Given the description of an element on the screen output the (x, y) to click on. 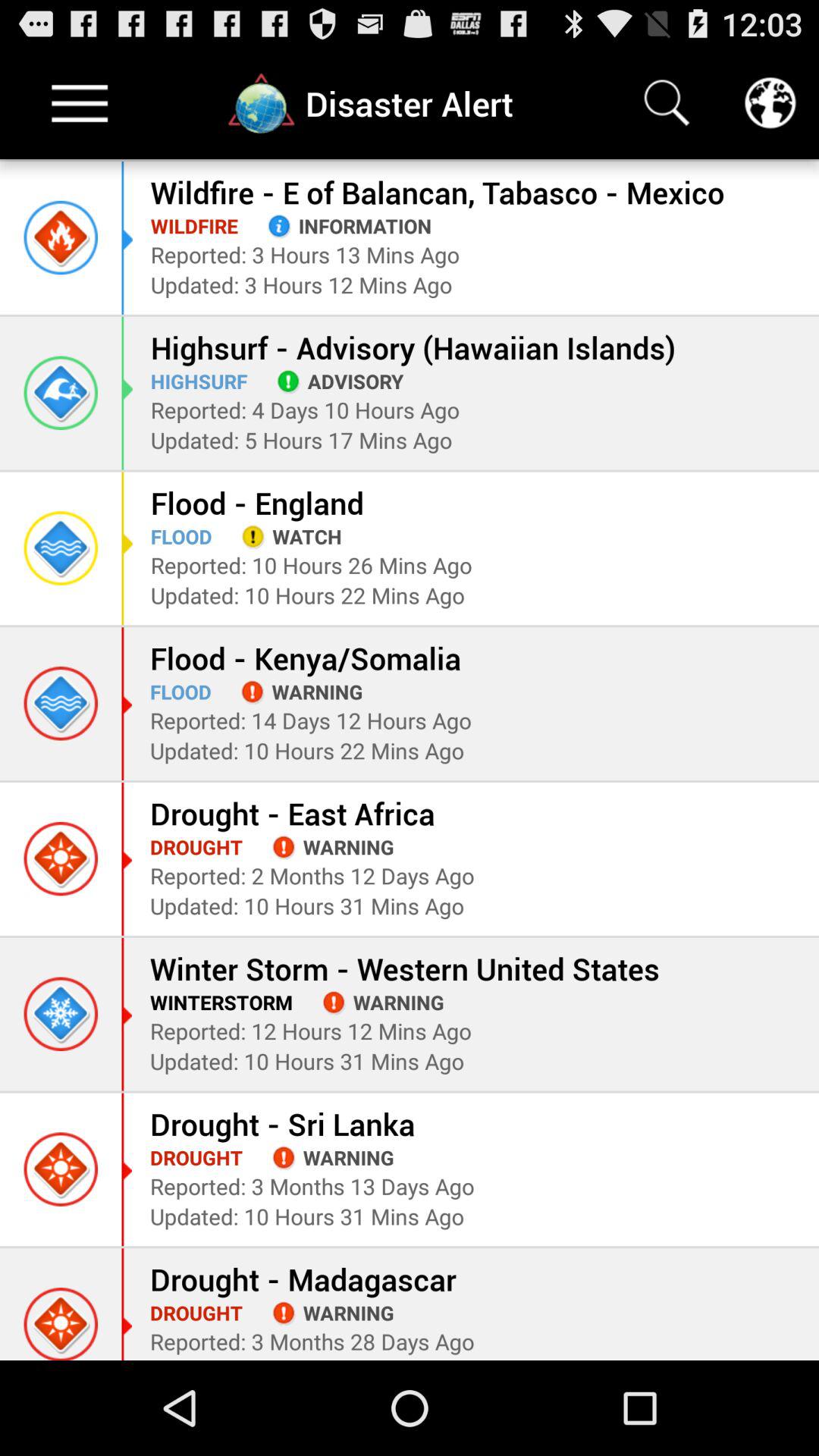
turn on the item above the wildfire e of icon (770, 103)
